Given the description of an element on the screen output the (x, y) to click on. 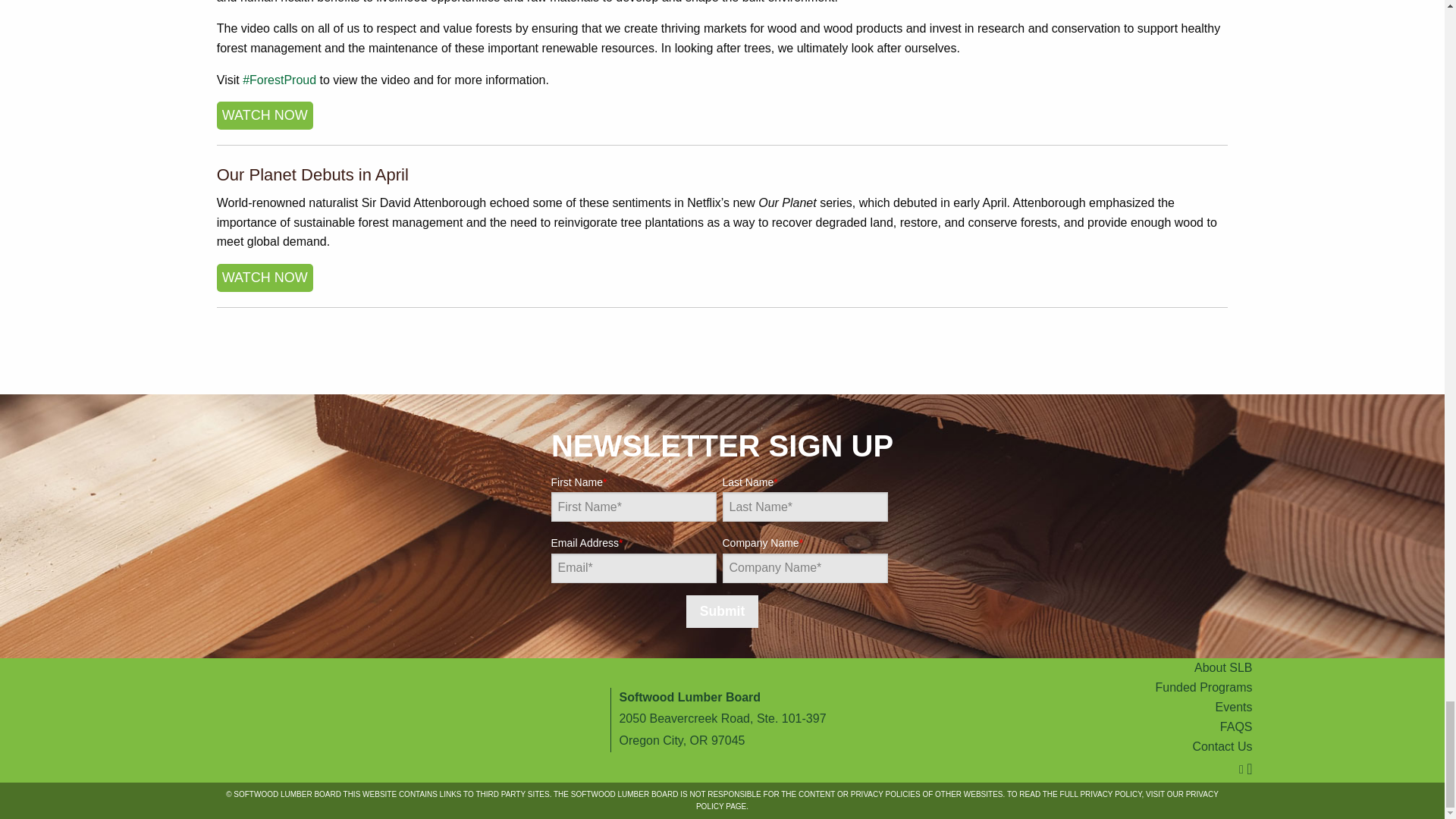
Submit (721, 611)
